Given the description of an element on the screen output the (x, y) to click on. 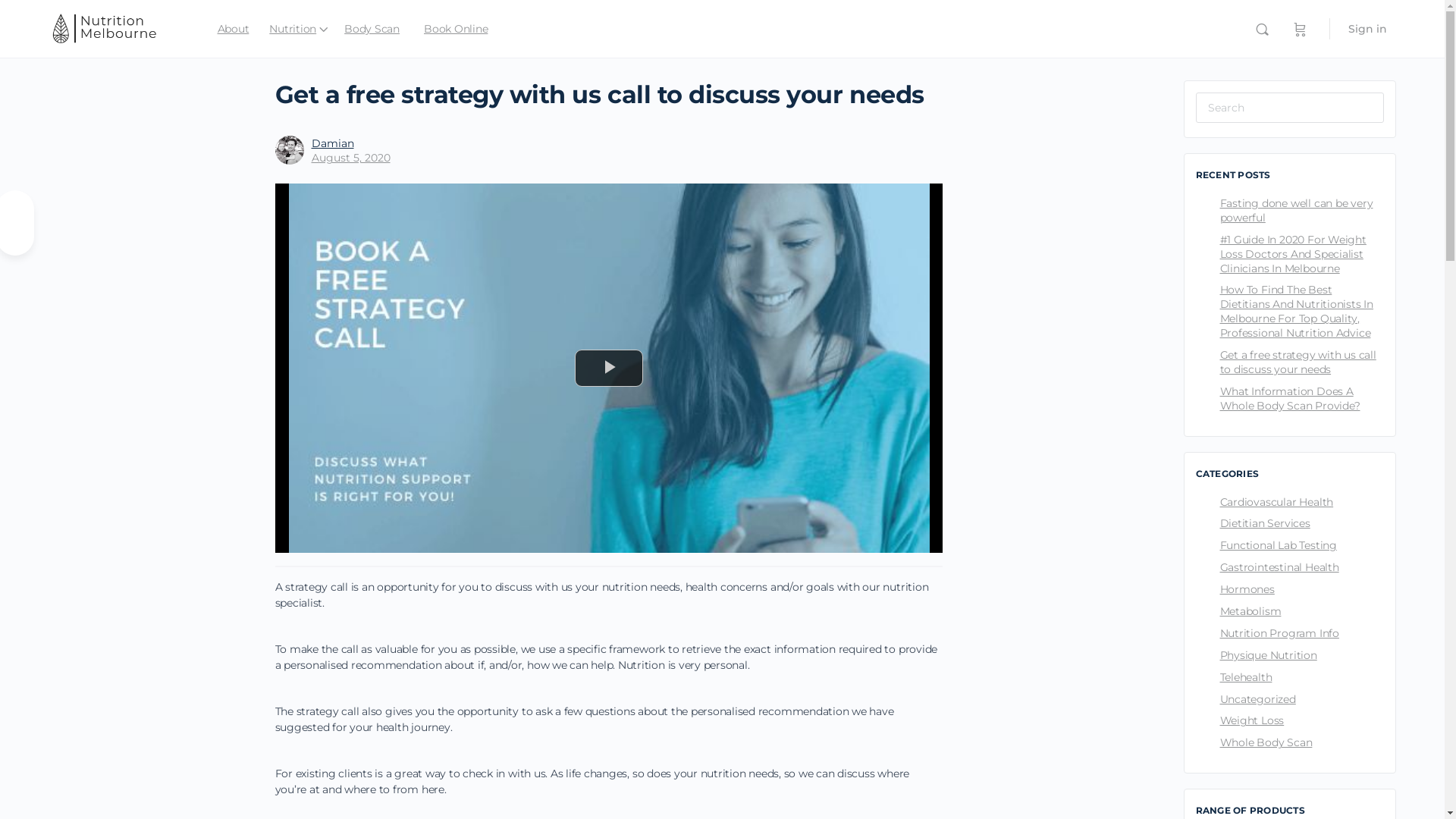
Uncategorized Element type: text (1257, 699)
Whole Body Scan Element type: text (1265, 742)
Functional Lab Testing Element type: text (1277, 545)
Metabolism Element type: text (1249, 611)
About Element type: text (232, 28)
Sign in Element type: text (1367, 28)
Fasting done well can be very powerful Element type: text (1295, 210)
Nutrition Element type: text (292, 28)
Book Online Element type: text (455, 28)
Dietitian Services Element type: text (1264, 523)
Damian Element type: text (331, 143)
Weight Loss Element type: text (1251, 720)
Get a free strategy with us call to discuss your needs Element type: text (1297, 362)
What Information Does A Whole Body Scan Provide? Element type: text (1289, 398)
August 5, 2020 Element type: text (349, 157)
Gastrointestinal Health Element type: text (1278, 567)
Body Scan Element type: text (371, 28)
Physique Nutrition Element type: text (1267, 655)
Telehealth Element type: text (1245, 677)
Cardiovascular Health Element type: text (1276, 501)
Hormones Element type: text (1246, 589)
Nutrition Program Info Element type: text (1278, 633)
